Given the description of an element on the screen output the (x, y) to click on. 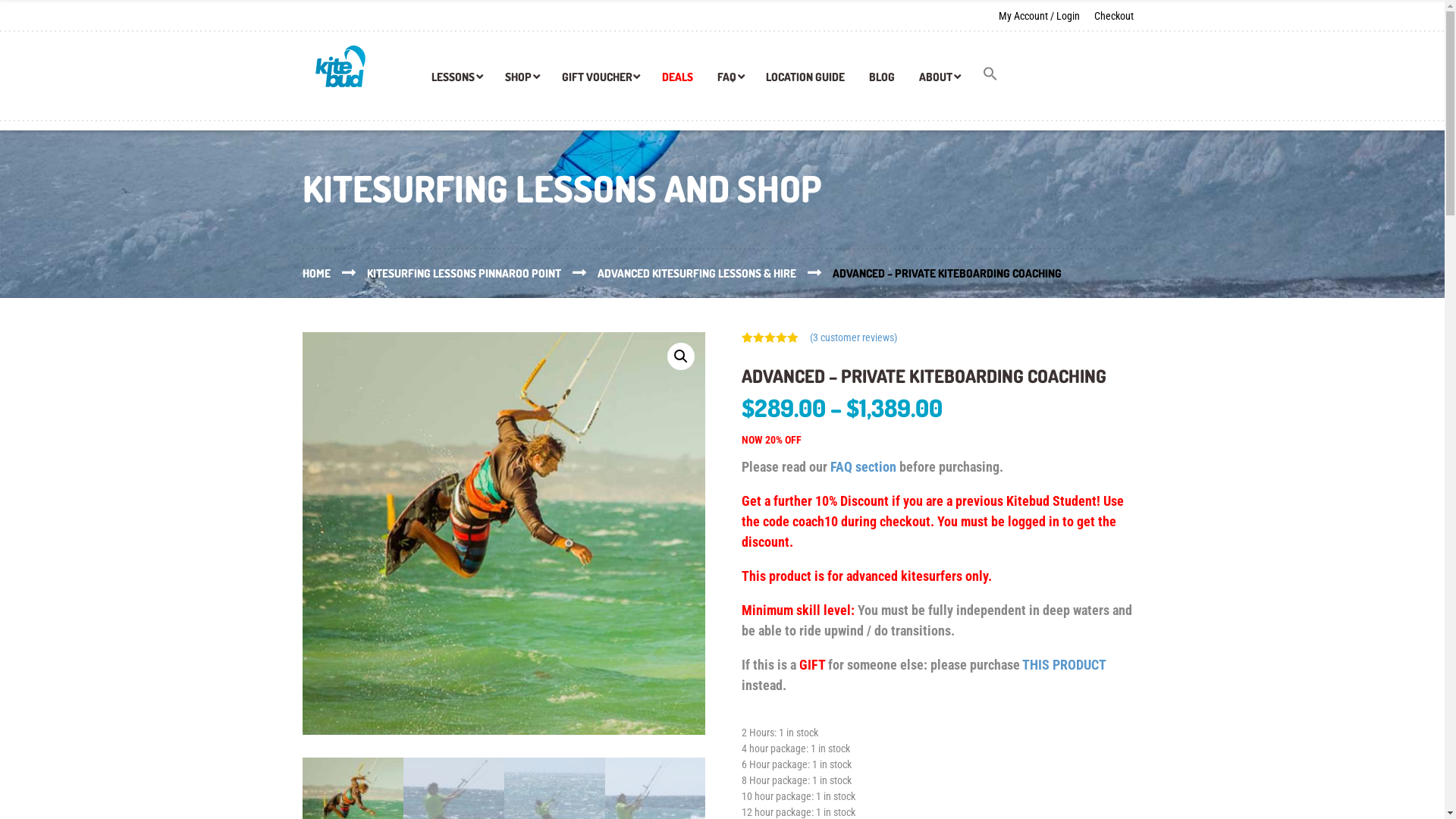
LOCATION GUIDE Element type: text (805, 82)
SHOP Element type: text (521, 82)
ABOUT Element type: text (938, 82)
FAQ Element type: text (729, 82)
DEALS Element type: text (677, 82)
My Account / Login Element type: text (1041, 15)
FAQ section Element type: text (863, 466)
HOME Element type: text (334, 273)
Checkout Element type: text (1113, 15)
(3 customer reviews) Element type: text (853, 337)
logged in Element type: text (1033, 521)
GIFT VOUCHER Element type: text (599, 82)
LESSONS Element type: text (456, 82)
ADVANCED KITESURFING LESSONS & HIRE Element type: text (714, 273)
KITESURFING LESSONS PINNAROO POINT Element type: text (482, 273)
THIS PRODUCT Element type: text (1063, 664)
Kiteboarding Coaching Element type: hover (503, 533)
BLOG Element type: text (881, 82)
